Given the description of an element on the screen output the (x, y) to click on. 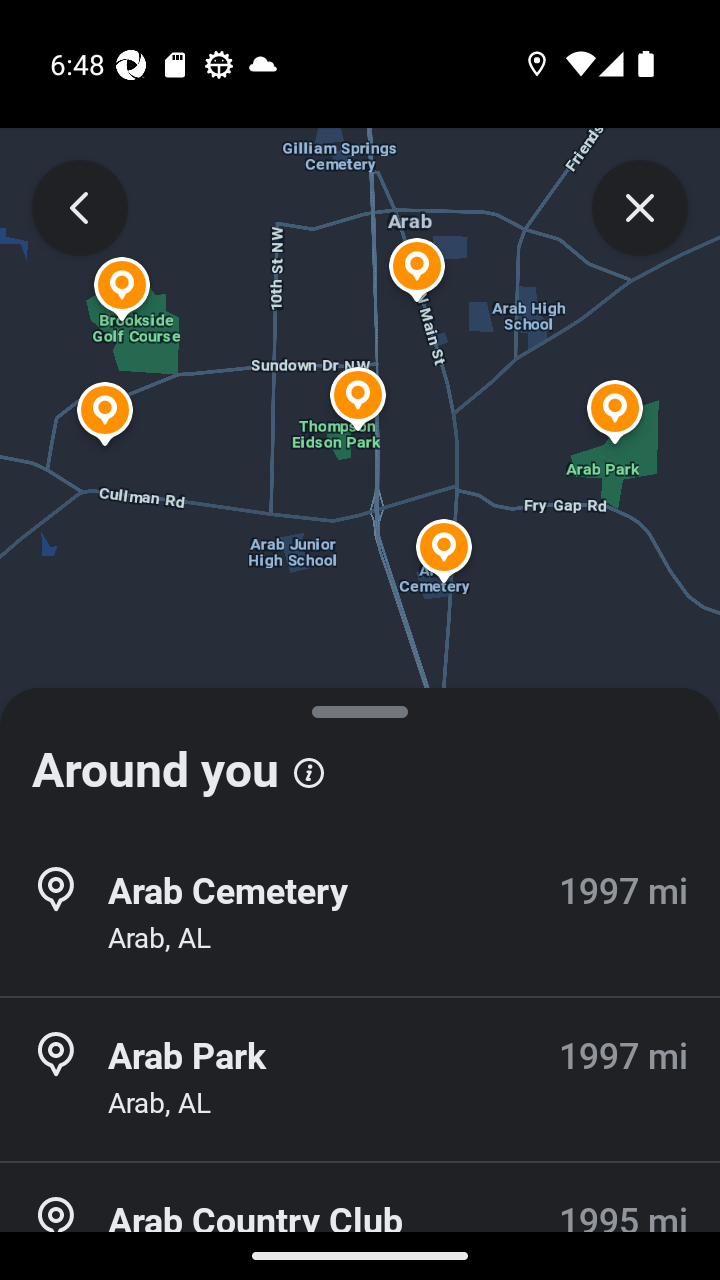
Around you (360, 760)
Arab Cemetery 1997 mi Arab, AL (360, 914)
Arab Park 1997 mi Arab, AL (360, 1079)
Arab Country Club 1995 mi Arab, AL (360, 1221)
